Given the description of an element on the screen output the (x, y) to click on. 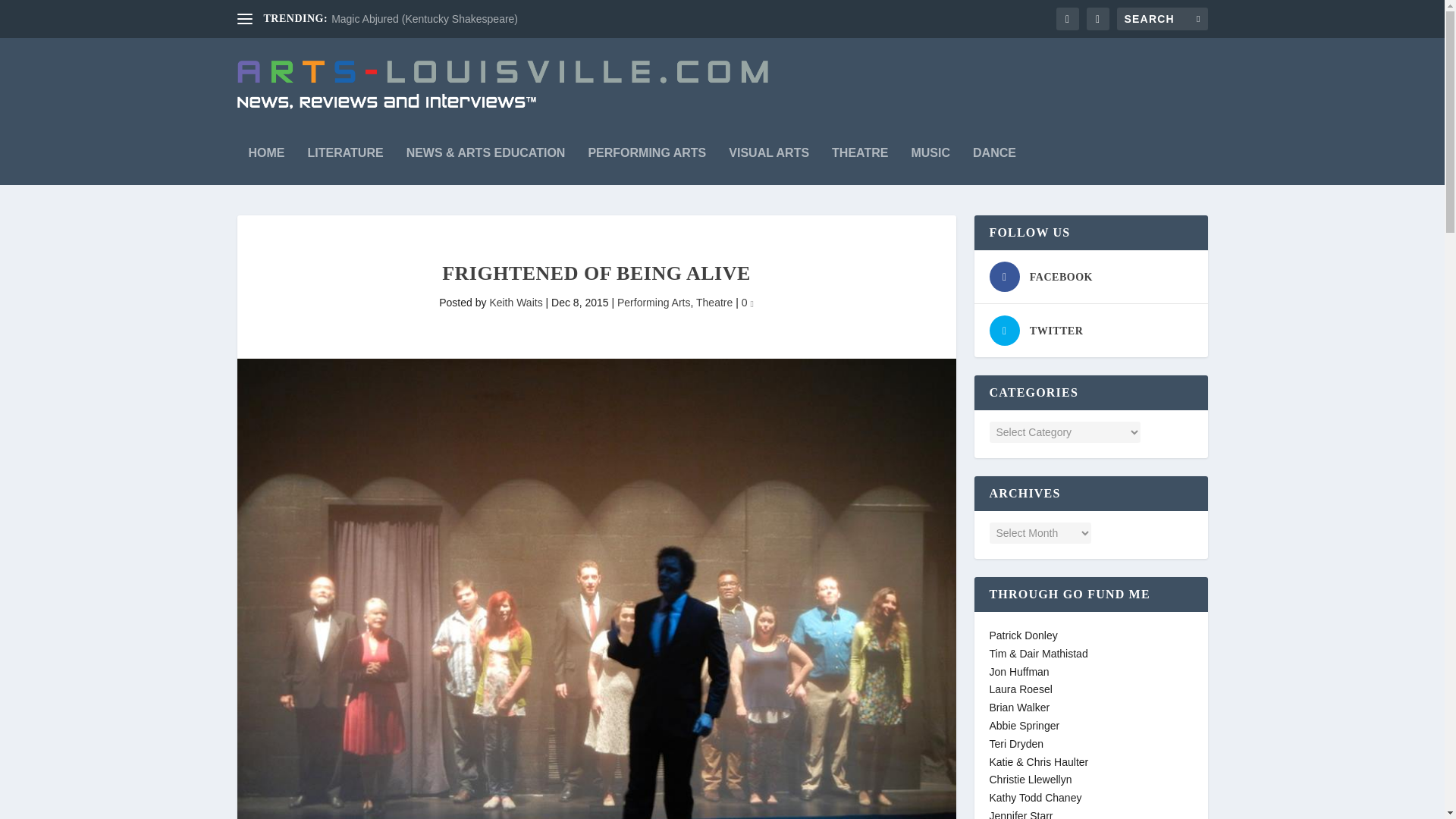
PERFORMING ARTS (647, 158)
LITERATURE (345, 158)
THEATRE (859, 158)
Posts by Keith Waits (515, 302)
VISUAL ARTS (769, 158)
Search for: (1161, 18)
